Given the description of an element on the screen output the (x, y) to click on. 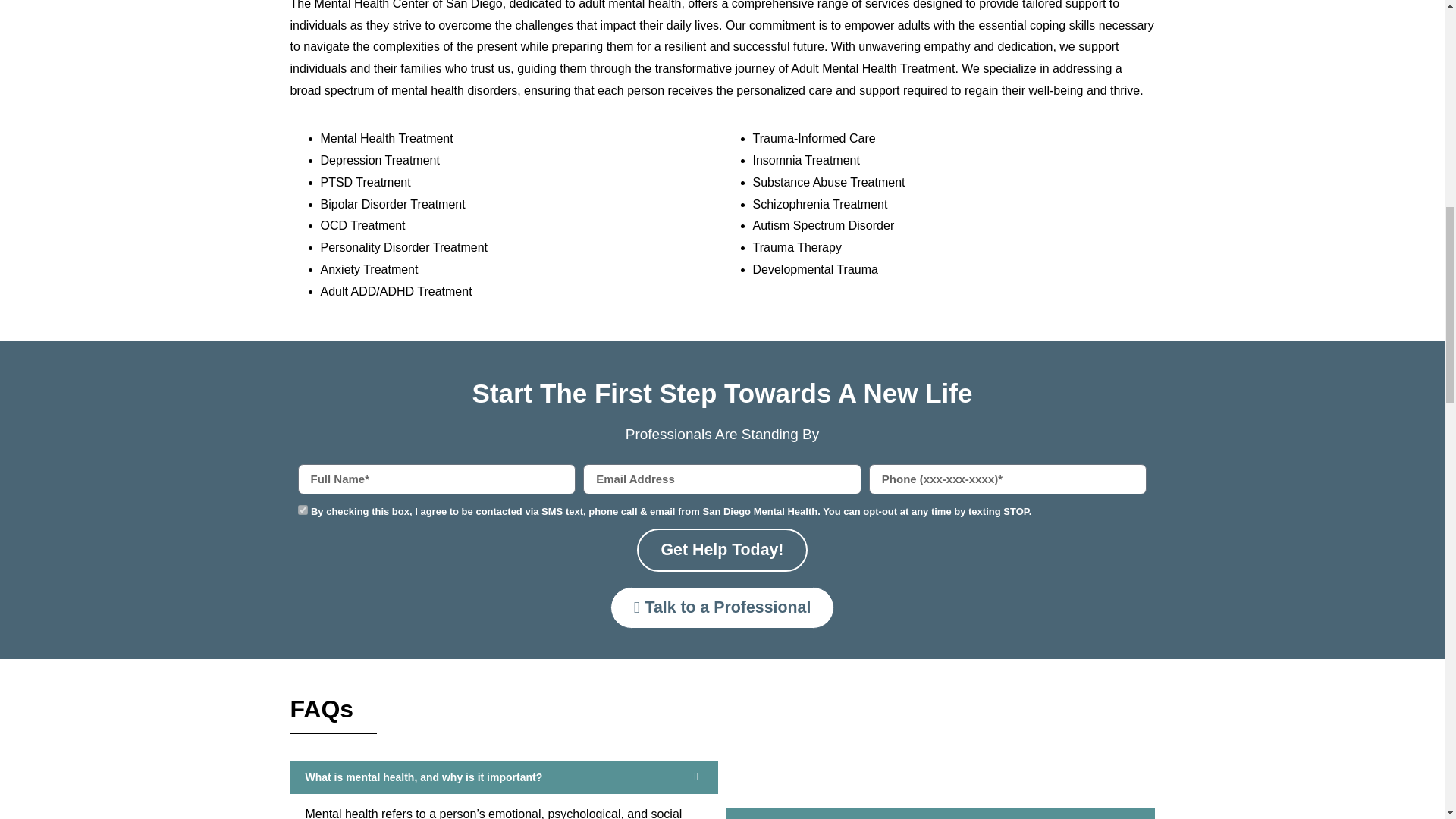
on (302, 510)
